Given the description of an element on the screen output the (x, y) to click on. 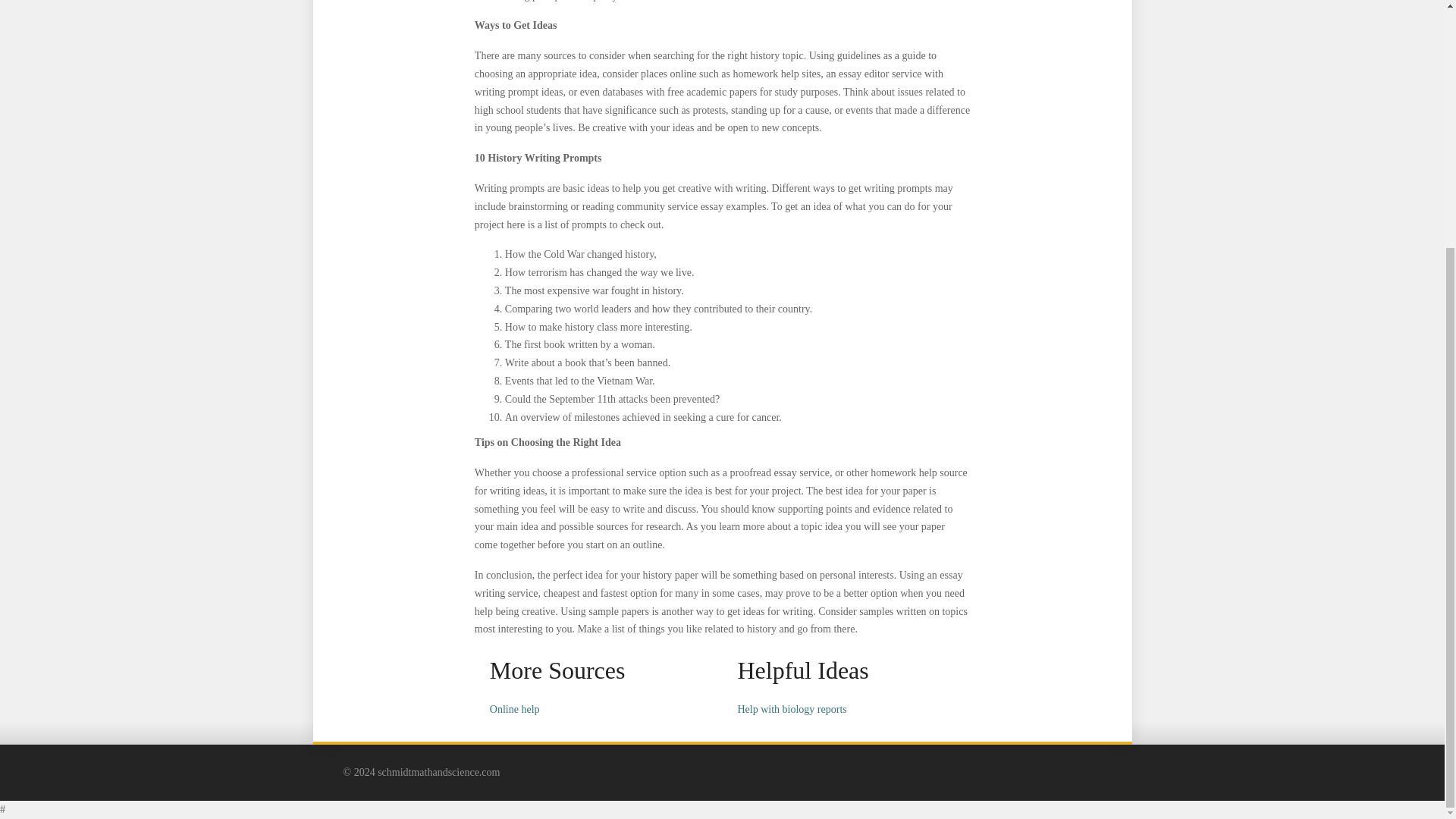
Help with biology reports (790, 708)
Online help (514, 708)
